Given the description of an element on the screen output the (x, y) to click on. 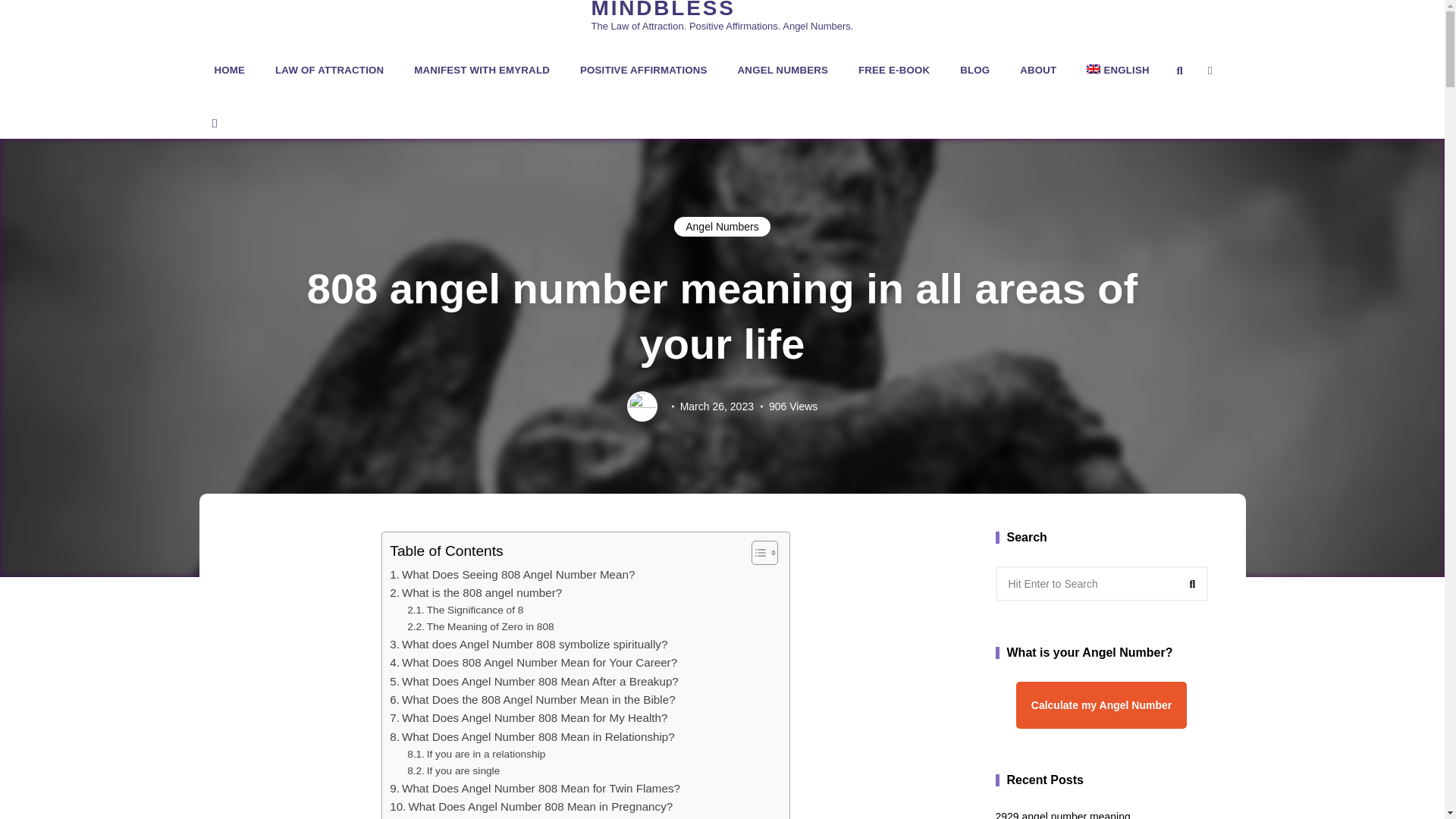
What does Angel Number 808 symbolize spiritually? (528, 644)
The Significance of 8 (464, 610)
If you are single (453, 770)
English (1117, 70)
What Does Angel Number 808 Mean in Relationship? (532, 737)
LAW OF ATTRACTION (329, 70)
MINDBLESS (663, 10)
The Meaning of Zero in 808 (480, 627)
What Does Angel Number 808 Mean for My Health? (528, 718)
Menu (213, 123)
What Does 808 Angel Number Mean for Your Career? (533, 662)
The Meaning of Zero in 808 (480, 627)
ANGEL NUMBERS (782, 70)
What Does Angel Number 808 Mean for My Health? (528, 718)
What Does 808 Angel Number Mean for Your Career? (533, 662)
